Given the description of an element on the screen output the (x, y) to click on. 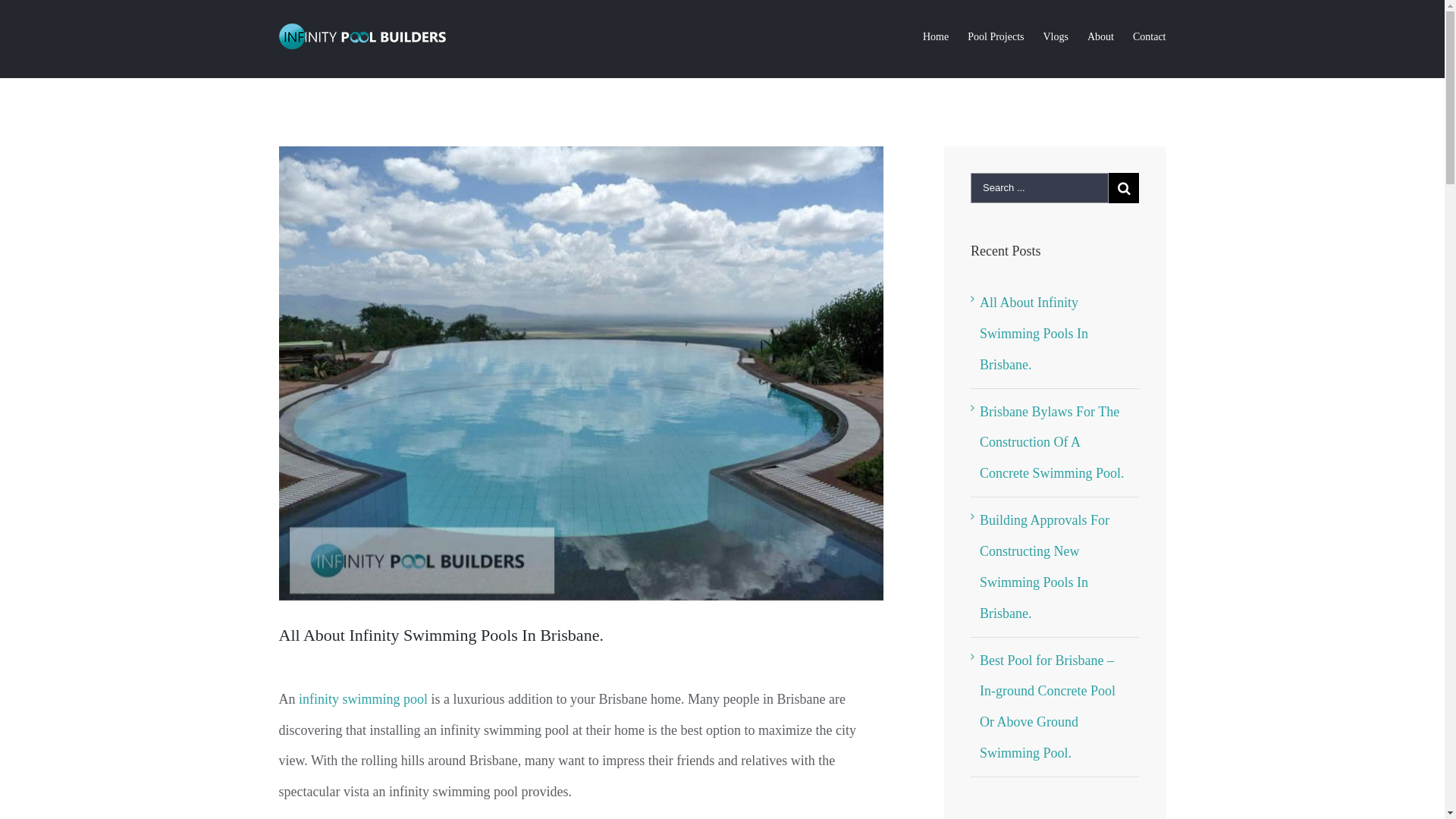
infinity swimming pool Element type: text (362, 698)
Home Element type: text (935, 36)
About Element type: text (1100, 36)
View Larger Image Element type: text (581, 373)
Pool Projects Element type: text (995, 36)
Vlogs Element type: text (1055, 36)
Contact Element type: text (1149, 36)
All About Infinity Swimming Pools In Brisbane. Element type: text (1033, 333)
